Given the description of an element on the screen output the (x, y) to click on. 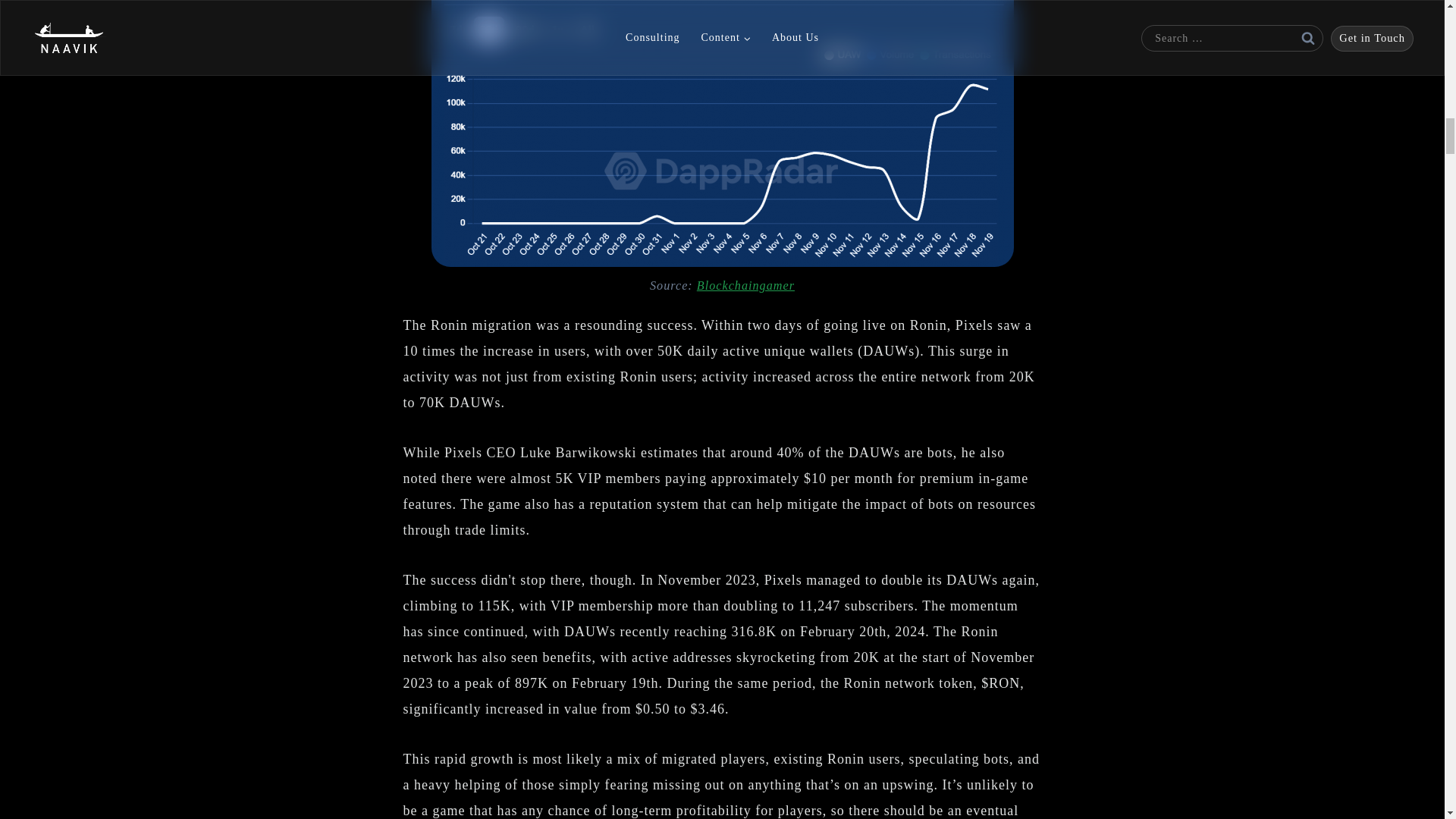
Blockchaingamer (745, 285)
